Given the description of an element on the screen output the (x, y) to click on. 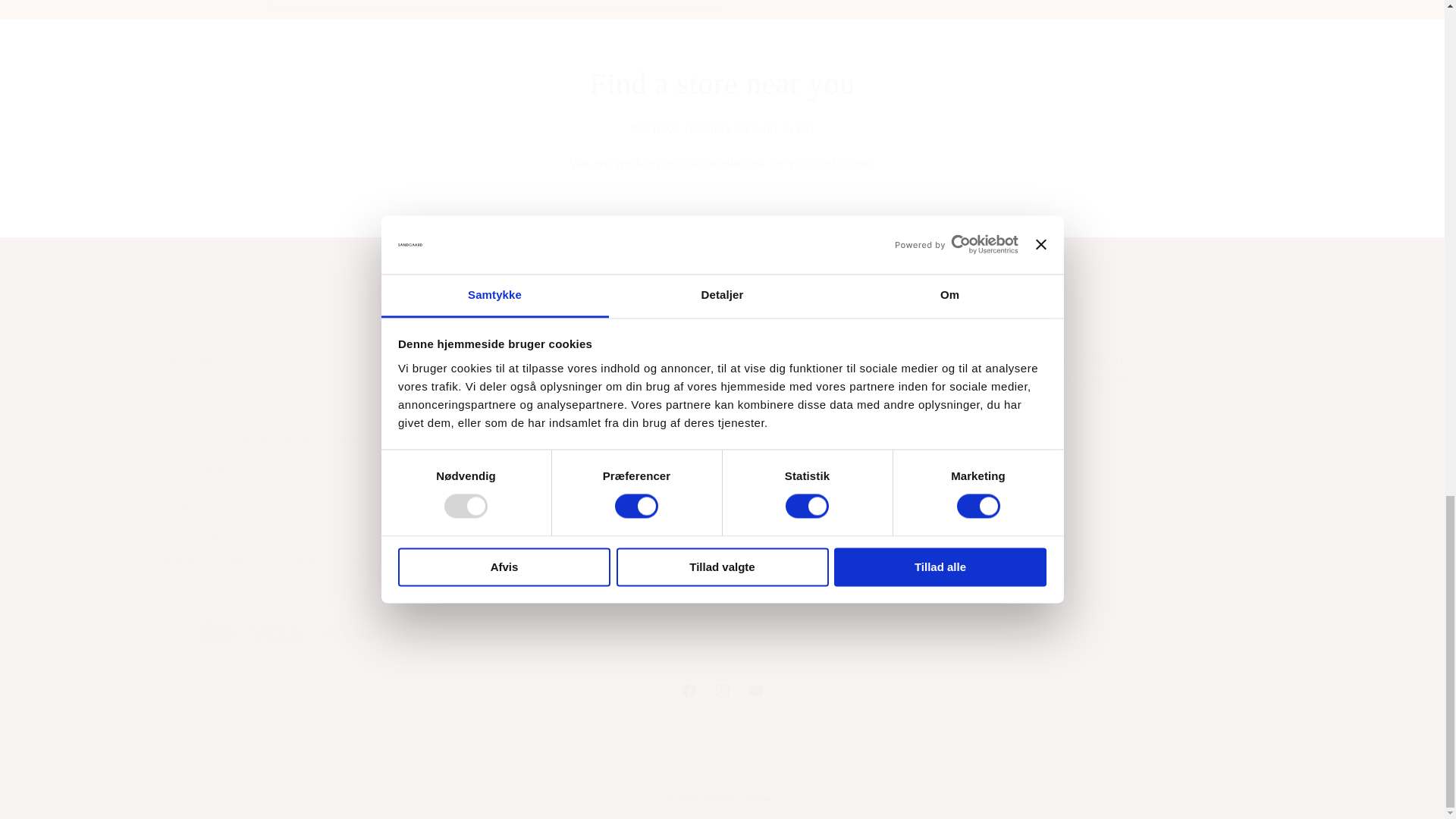
Find a store near you (721, 84)
Contact (1093, 381)
